Given the description of an element on the screen output the (x, y) to click on. 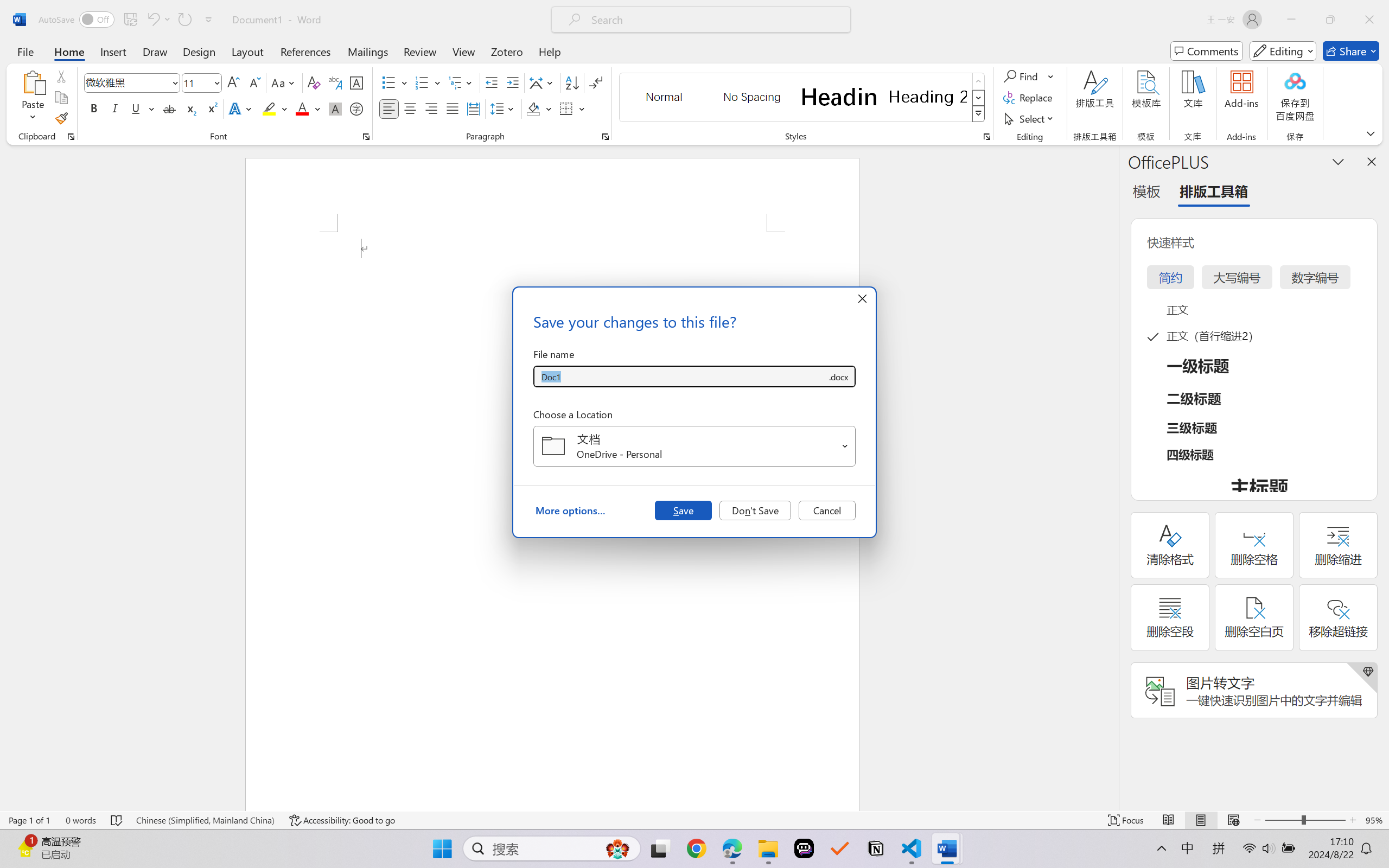
Language Chinese (Simplified, Mainland China) (205, 819)
